Given the description of an element on the screen output the (x, y) to click on. 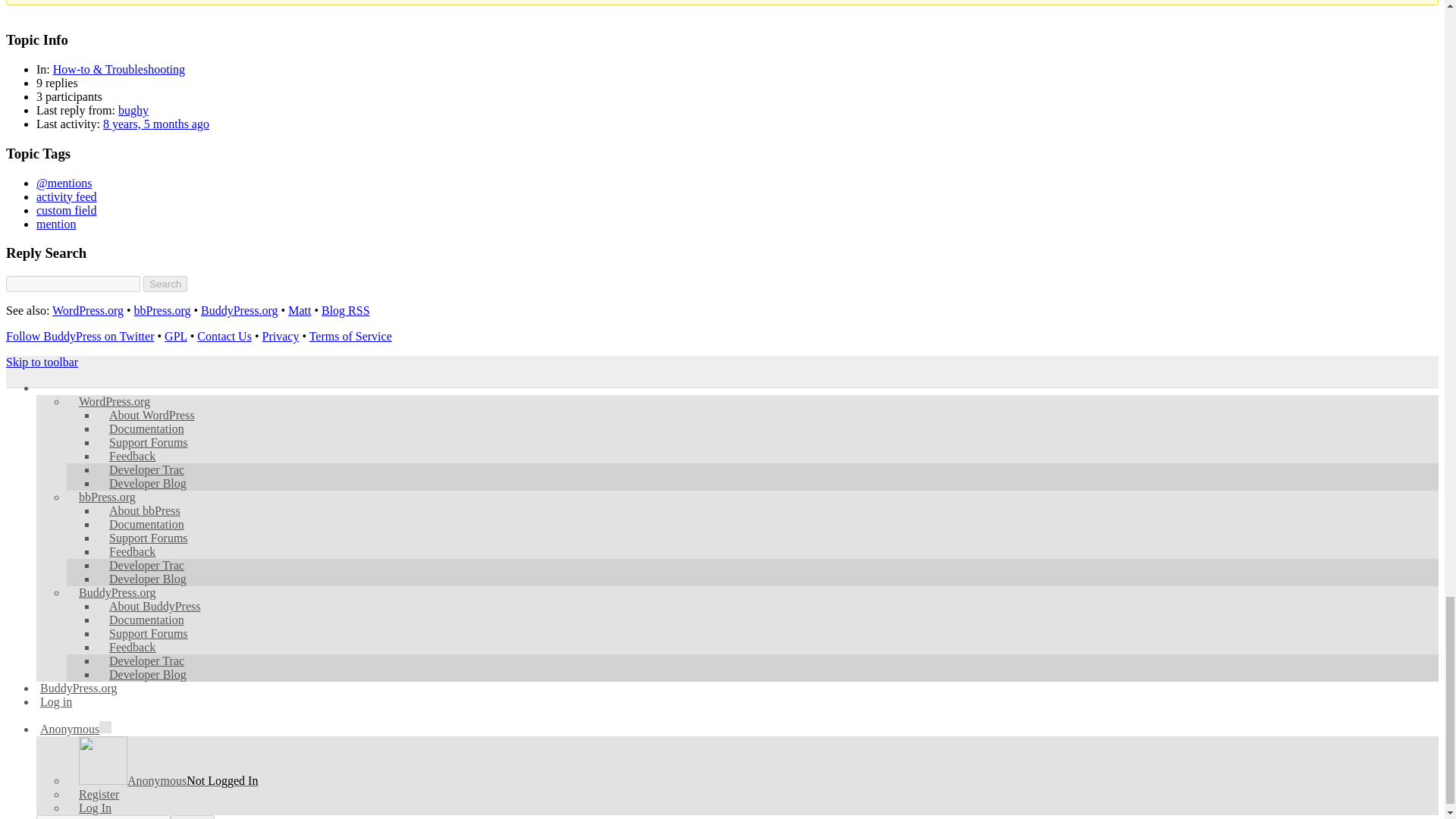
bughy (132, 110)
8 years, 5 months ago (156, 123)
Search (164, 283)
